Given the description of an element on the screen output the (x, y) to click on. 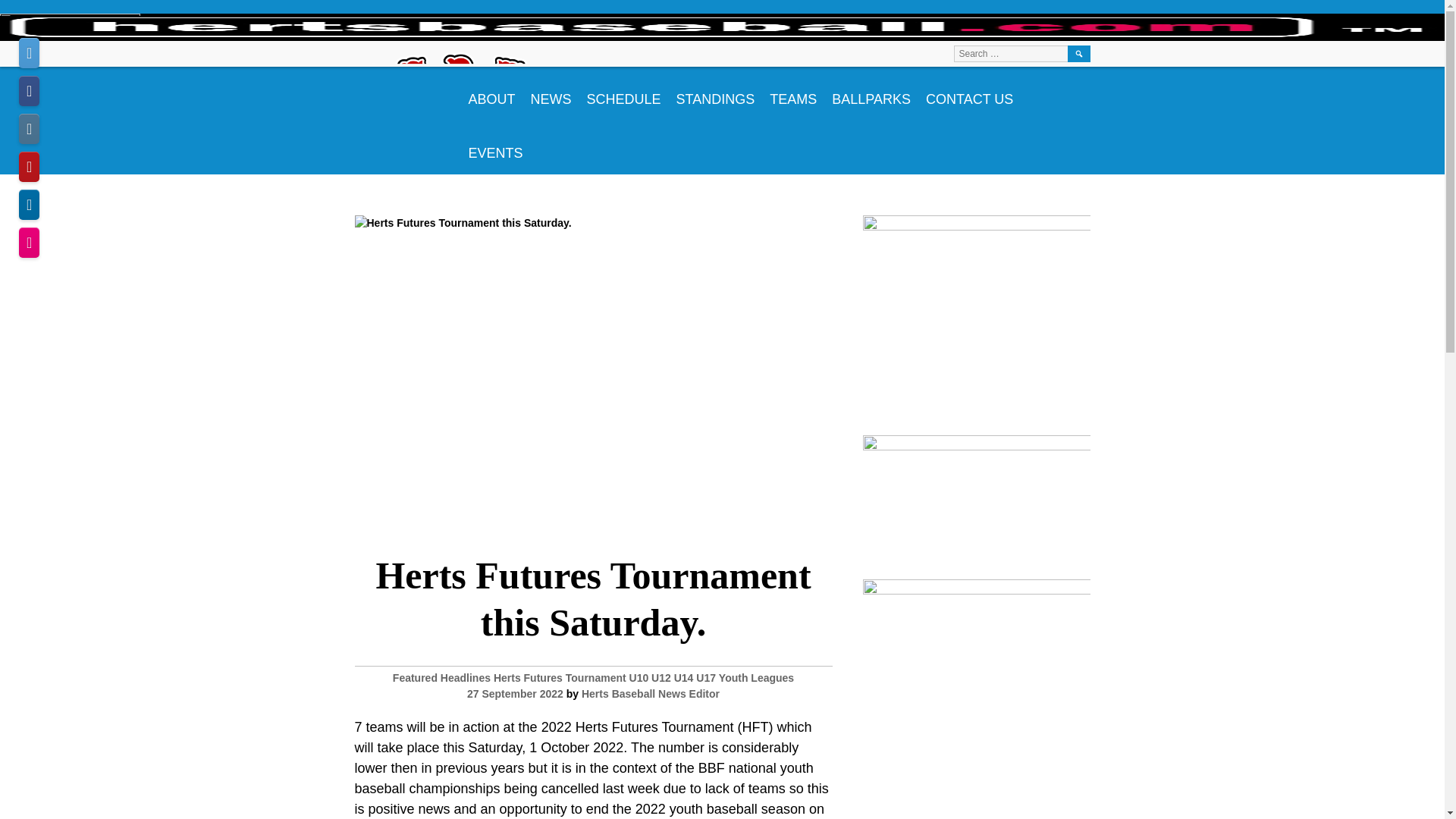
STANDINGS (715, 93)
CONTACT US (969, 93)
NEWS (550, 93)
Search (1078, 53)
TEAMS (792, 93)
BALLPARKS (871, 93)
ABOUT (491, 93)
SCHEDULE (623, 93)
